Given the description of an element on the screen output the (x, y) to click on. 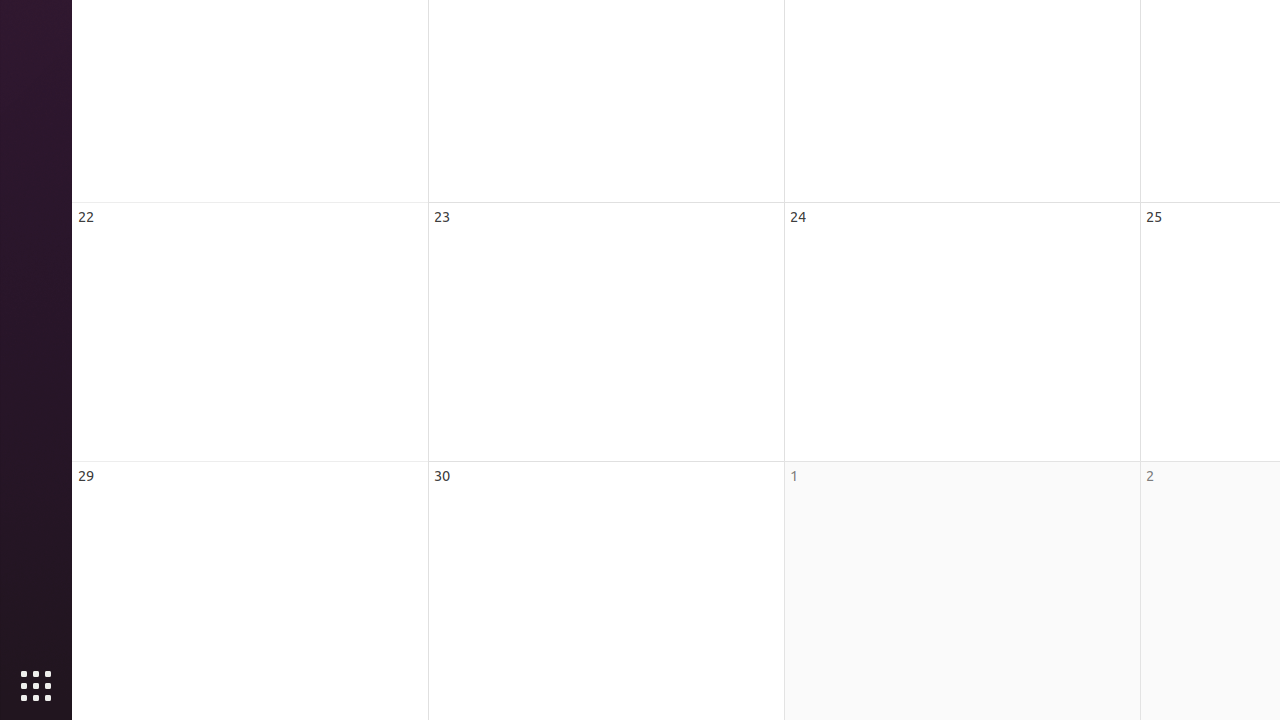
24 Element type: label (798, 216)
29 Element type: label (86, 475)
2 Element type: label (1150, 475)
1 Element type: label (794, 475)
